Given the description of an element on the screen output the (x, y) to click on. 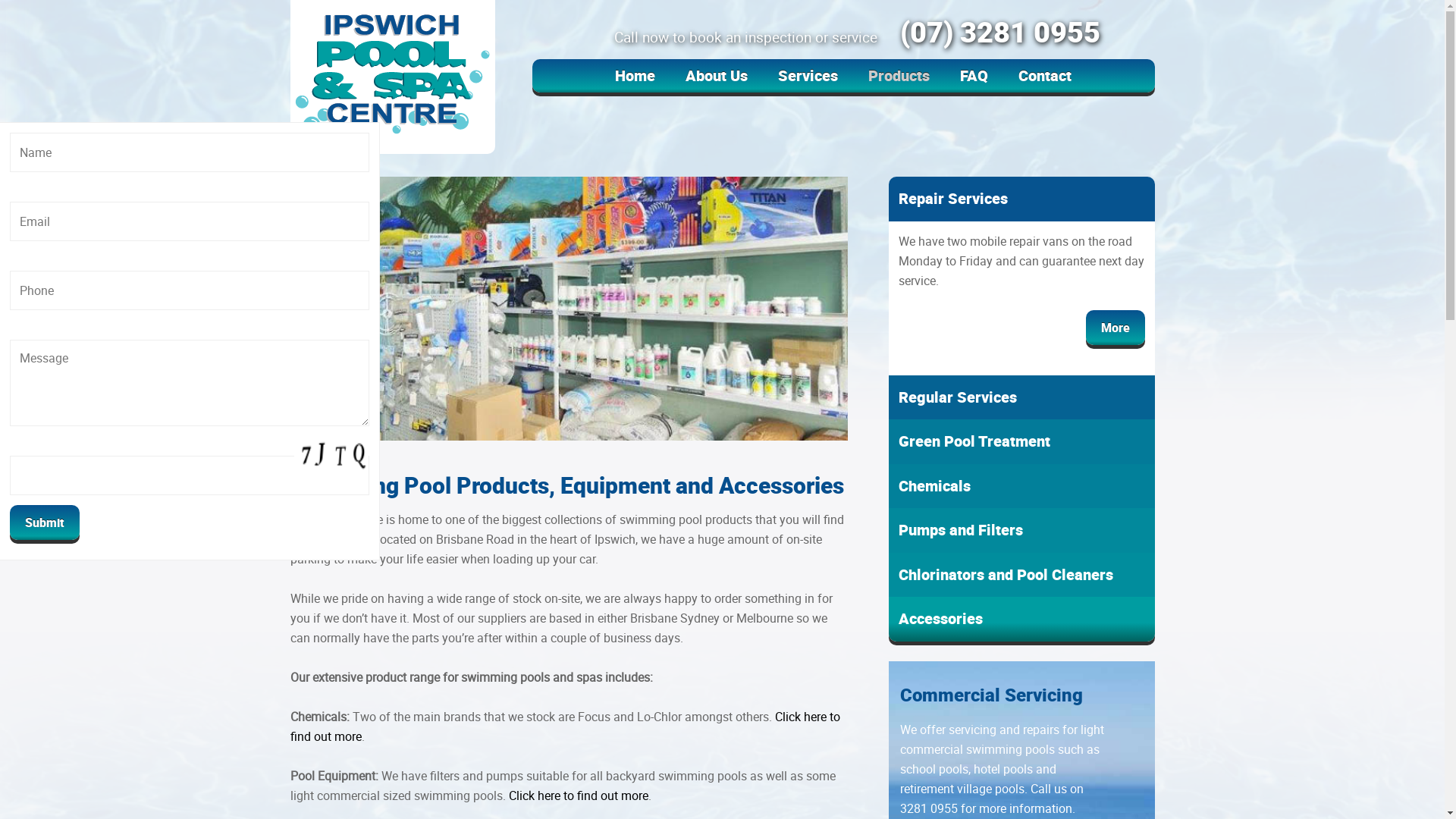
Repair Services Element type: text (1021, 198)
More Element type: text (1115, 326)
Submit Element type: text (44, 522)
Click here to find out more Element type: text (564, 726)
Regular Services Element type: text (1021, 397)
Green Pool Treatment Element type: text (1021, 441)
Chemicals Element type: text (1021, 485)
3281 0955 Element type: text (928, 807)
Services Element type: text (807, 75)
Home Element type: text (634, 75)
Contact Element type: text (1044, 75)
Products Element type: text (898, 75)
Pumps and Filters Element type: text (1021, 529)
FAQ Element type: text (973, 75)
Accessories Element type: text (1021, 618)
About Us Element type: text (716, 75)
Chlorinators and Pool Cleaners Element type: text (1021, 574)
Click here to find out more Element type: text (577, 795)
(07) 3281 0955 Element type: text (996, 31)
